Given the description of an element on the screen output the (x, y) to click on. 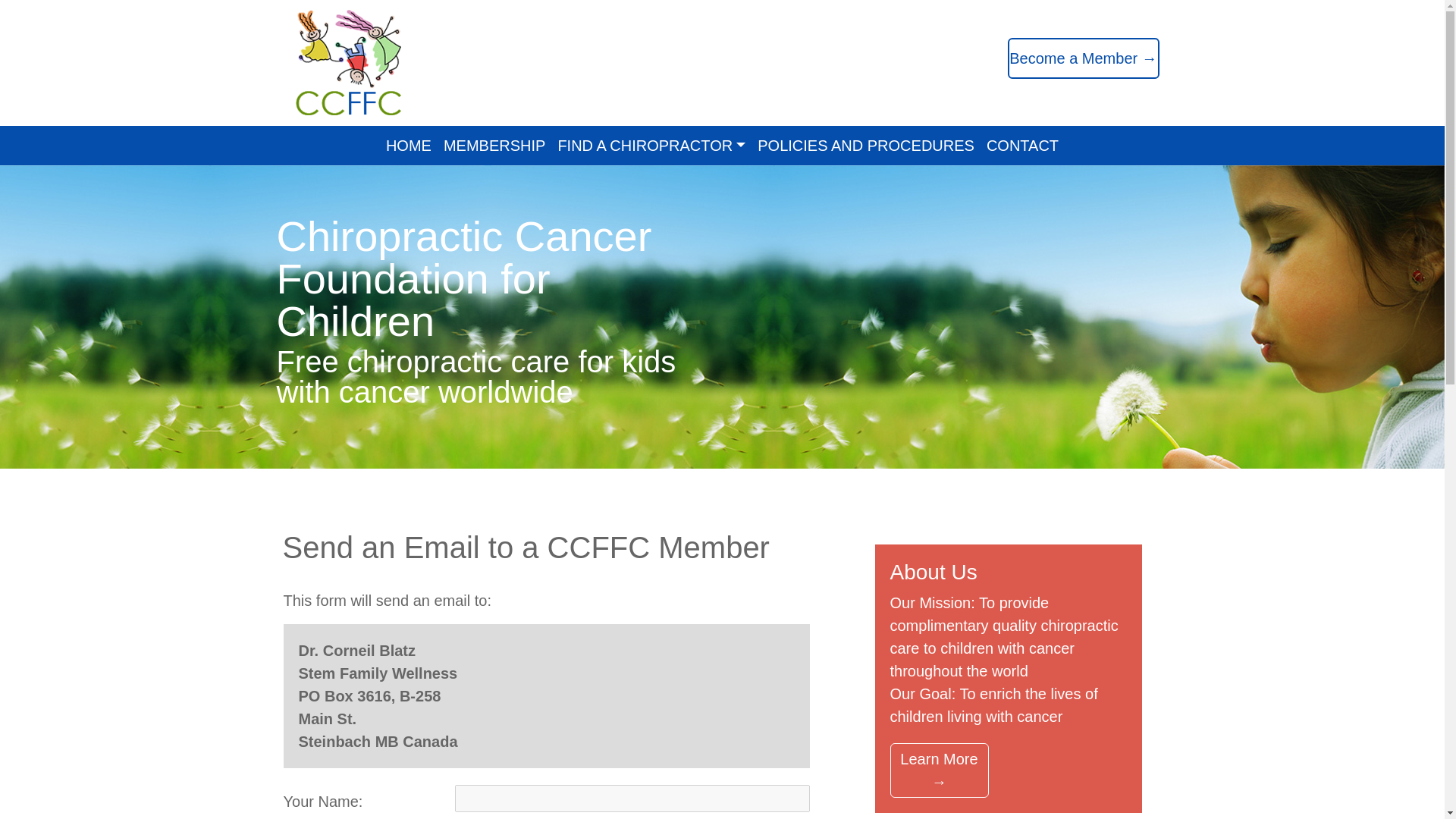
Click here to become a Member (494, 144)
CONTACT (1021, 144)
Click here for Policies and Procedures (865, 144)
Click here for Home page (409, 144)
MEMBERSHIP (494, 144)
Please enter your name here (631, 798)
Click here for Articles of Practice (938, 769)
HOME (409, 144)
Click here to become a Member (1082, 57)
FIND A CHIROPRACTOR (651, 144)
POLICIES AND PROCEDURES (865, 144)
Click here to Contact Us (1021, 144)
